Given the description of an element on the screen output the (x, y) to click on. 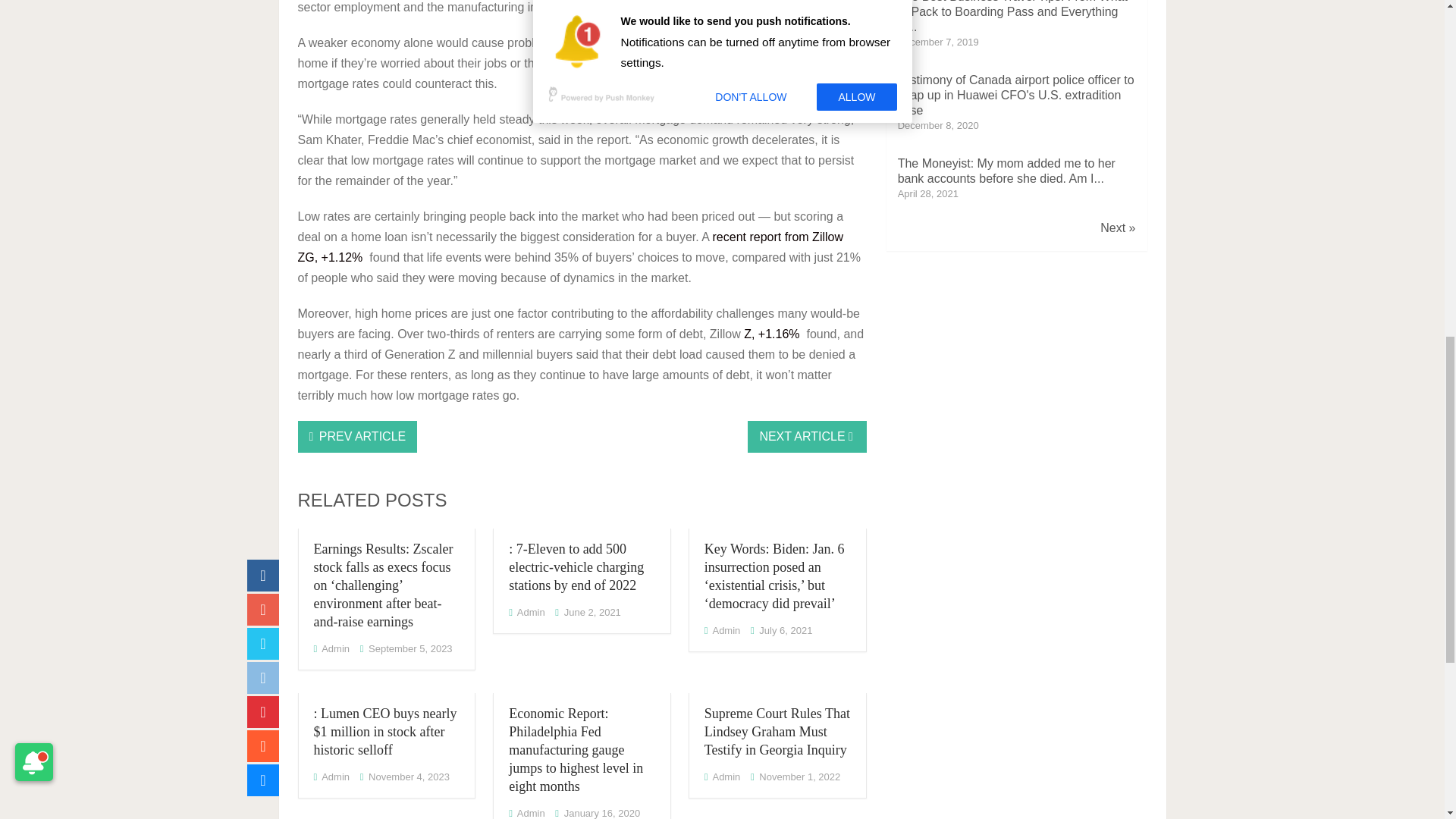
PREV ARTICLE (356, 436)
Posts by admin (530, 813)
Posts by admin (335, 648)
Admin (335, 648)
recent report from Zillow (778, 236)
Posts by admin (530, 612)
Posts by admin (725, 630)
Posts by admin (335, 776)
